Given the description of an element on the screen output the (x, y) to click on. 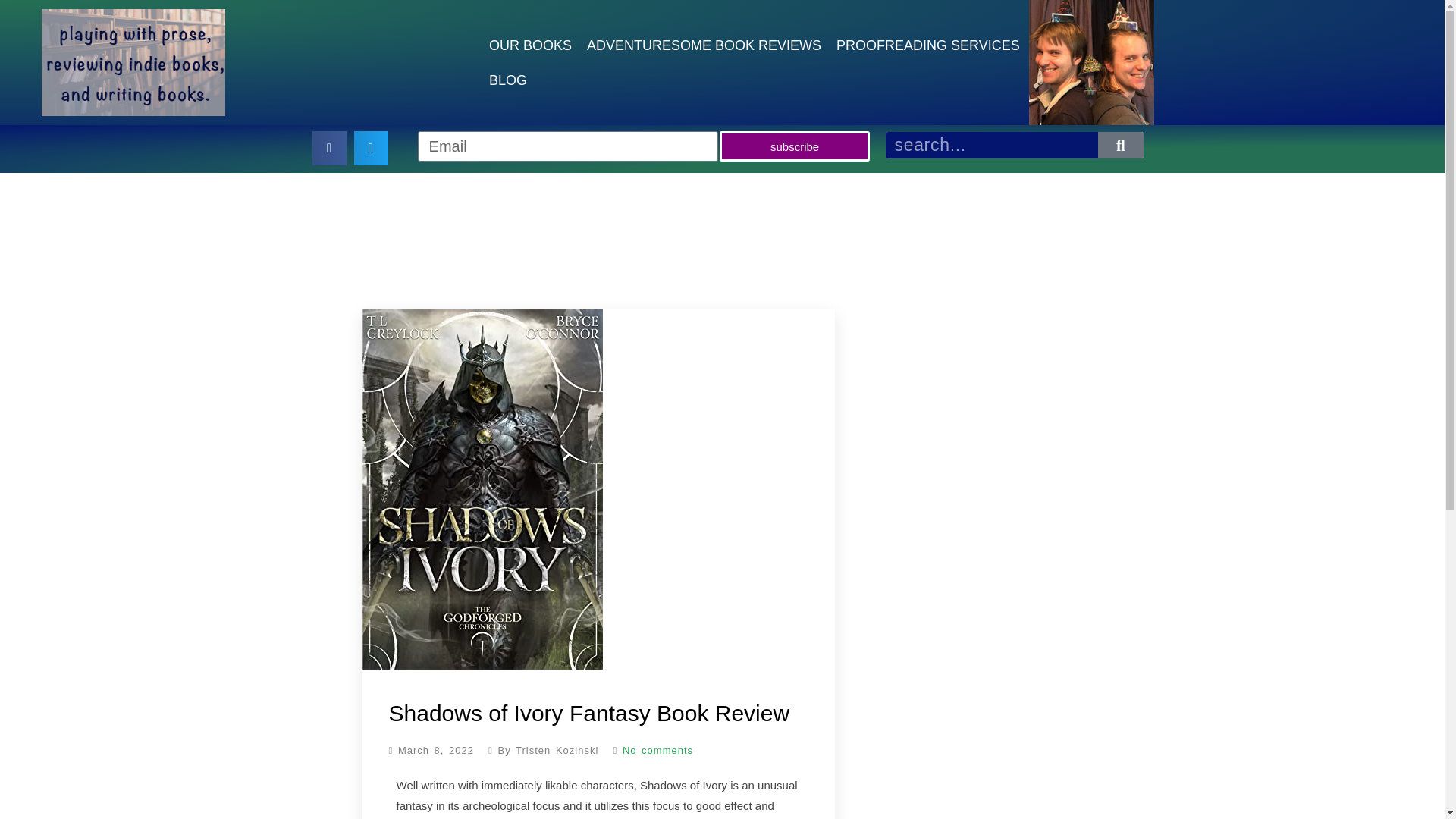
OUR BOOKS (530, 44)
PROOFREADING SERVICES (927, 44)
No comments (648, 749)
ADVENTURESOME BOOK REVIEWS (703, 44)
BLOG (507, 79)
subscribe (794, 146)
book reviews (703, 44)
